Given the description of an element on the screen output the (x, y) to click on. 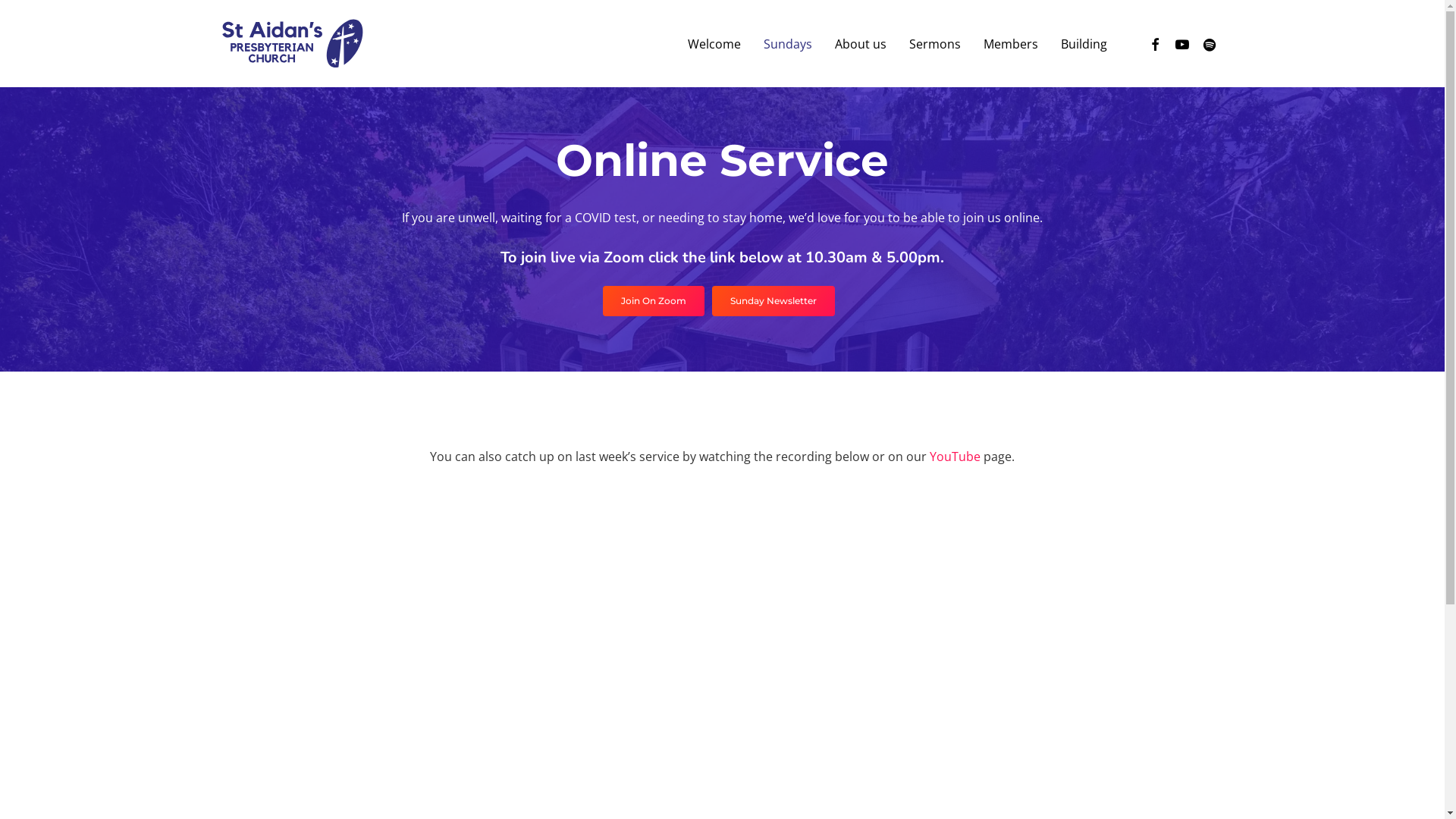
spotify Element type: text (1208, 43)
Sermons Element type: text (934, 42)
Building Element type: text (1083, 42)
YouTube Element type: text (954, 455)
facebook Element type: text (1153, 43)
Join On Zoom Element type: text (652, 300)
About us Element type: text (860, 42)
Sunday Newsletter Element type: text (772, 300)
youtube Element type: text (1181, 43)
Members Element type: text (1010, 42)
Welcome Element type: text (714, 42)
Sundays Element type: text (787, 42)
